Given the description of an element on the screen output the (x, y) to click on. 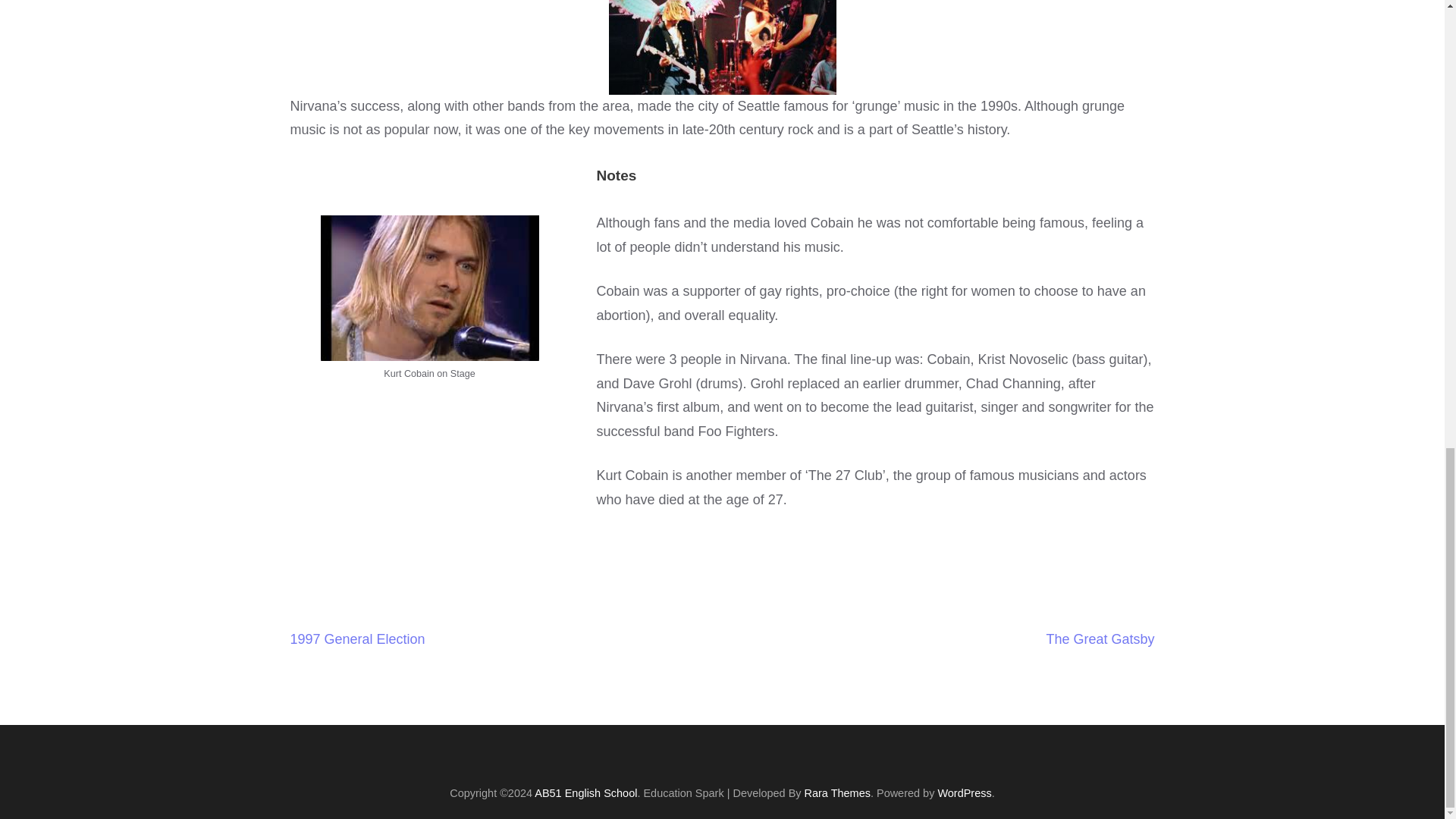
Rara Themes (837, 793)
The Great Gatsby (1099, 639)
1997 General Election (357, 639)
AB51 English School (585, 793)
WordPress (964, 793)
